Given the description of an element on the screen output the (x, y) to click on. 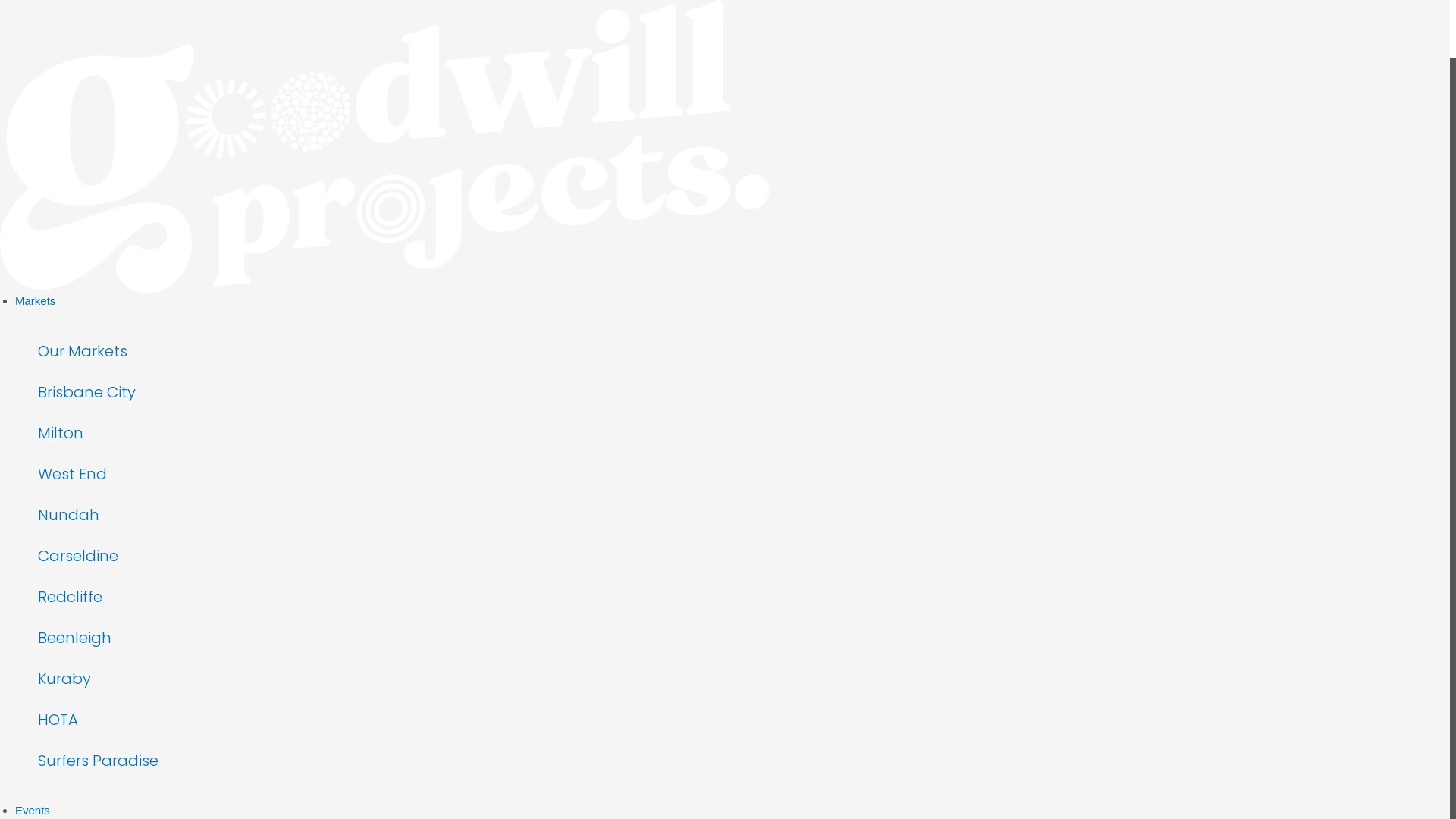
HOTA Element type: text (192, 719)
Events Element type: text (732, 810)
Brisbane City Element type: text (192, 391)
Nundah Element type: text (192, 514)
Kuraby Element type: text (192, 678)
West End Element type: text (192, 473)
Beenleigh Element type: text (192, 637)
Markets Element type: text (732, 300)
Milton Element type: text (192, 432)
Surfers Paradise Element type: text (192, 760)
Our Markets Element type: text (192, 350)
Redcliffe Element type: text (192, 596)
Carseldine Element type: text (192, 555)
